Given the description of an element on the screen output the (x, y) to click on. 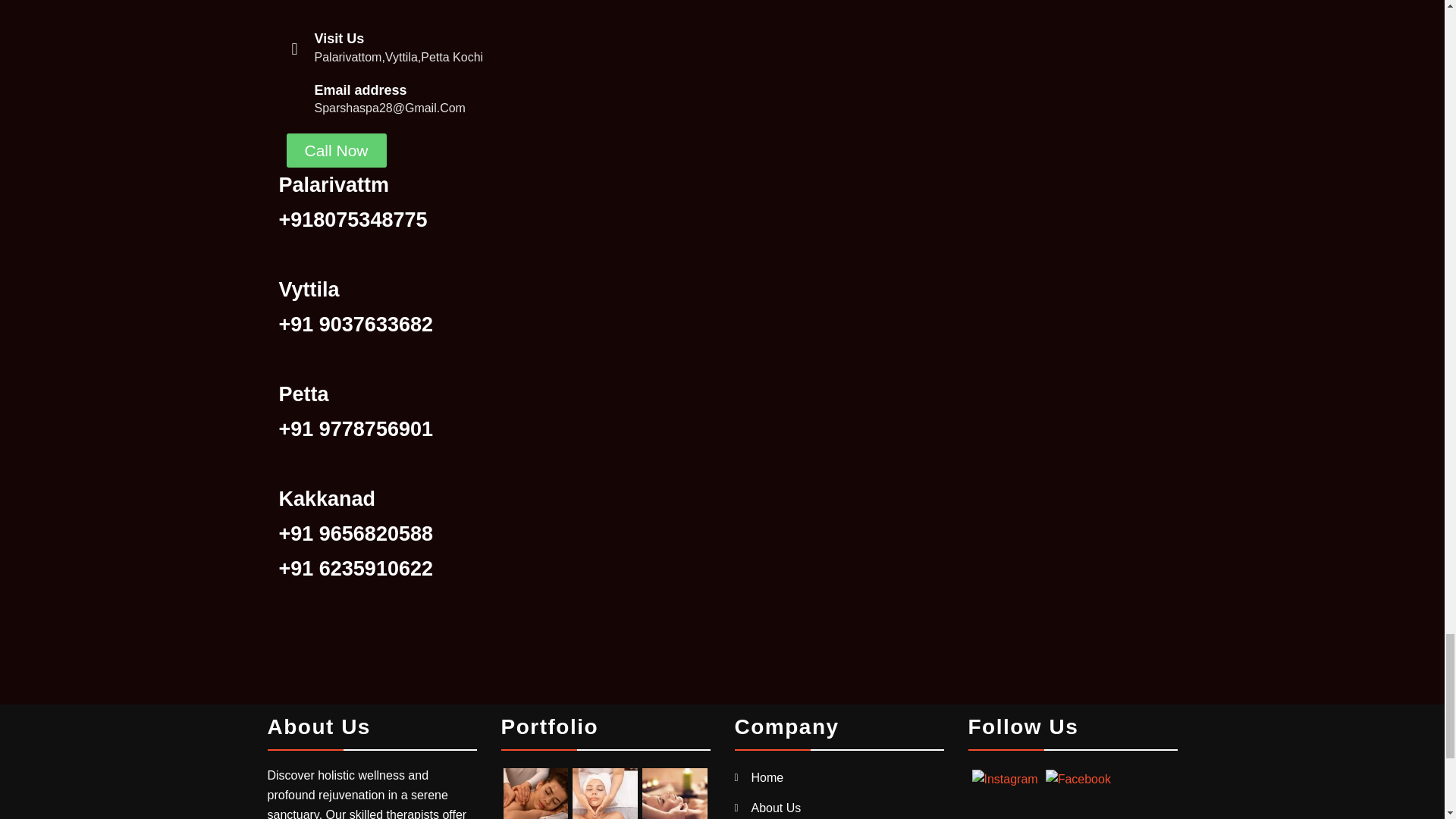
Call Now (336, 150)
Home (767, 777)
About Us (775, 807)
